Given the description of an element on the screen output the (x, y) to click on. 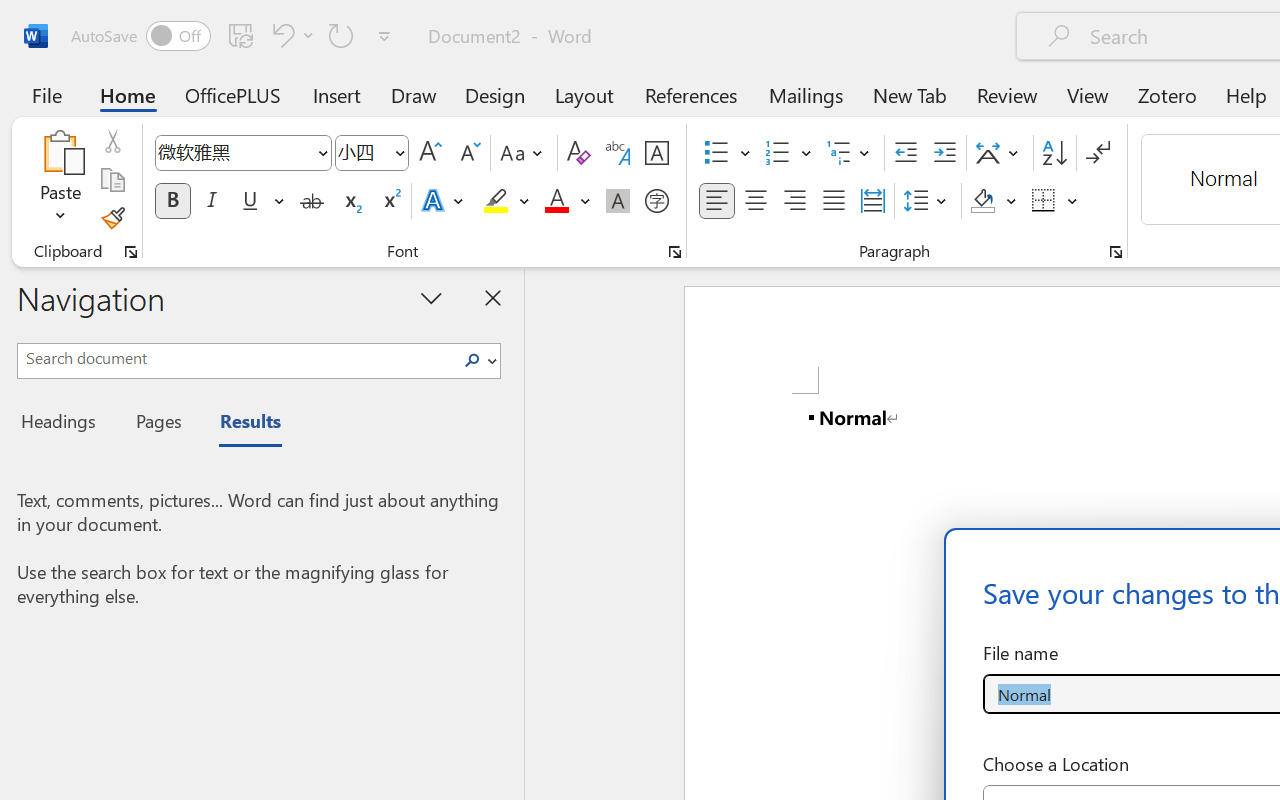
Font Size (362, 152)
File Tab (46, 94)
Strikethrough (312, 201)
Cut (112, 141)
Paste (60, 151)
Bold (172, 201)
Character Shading (618, 201)
Borders (1055, 201)
Font Color (567, 201)
Distributed (872, 201)
Character Border (656, 153)
Shading RGB(0, 0, 0) (982, 201)
Align Right (794, 201)
Layout (584, 94)
Multilevel List (850, 153)
